Given the description of an element on the screen output the (x, y) to click on. 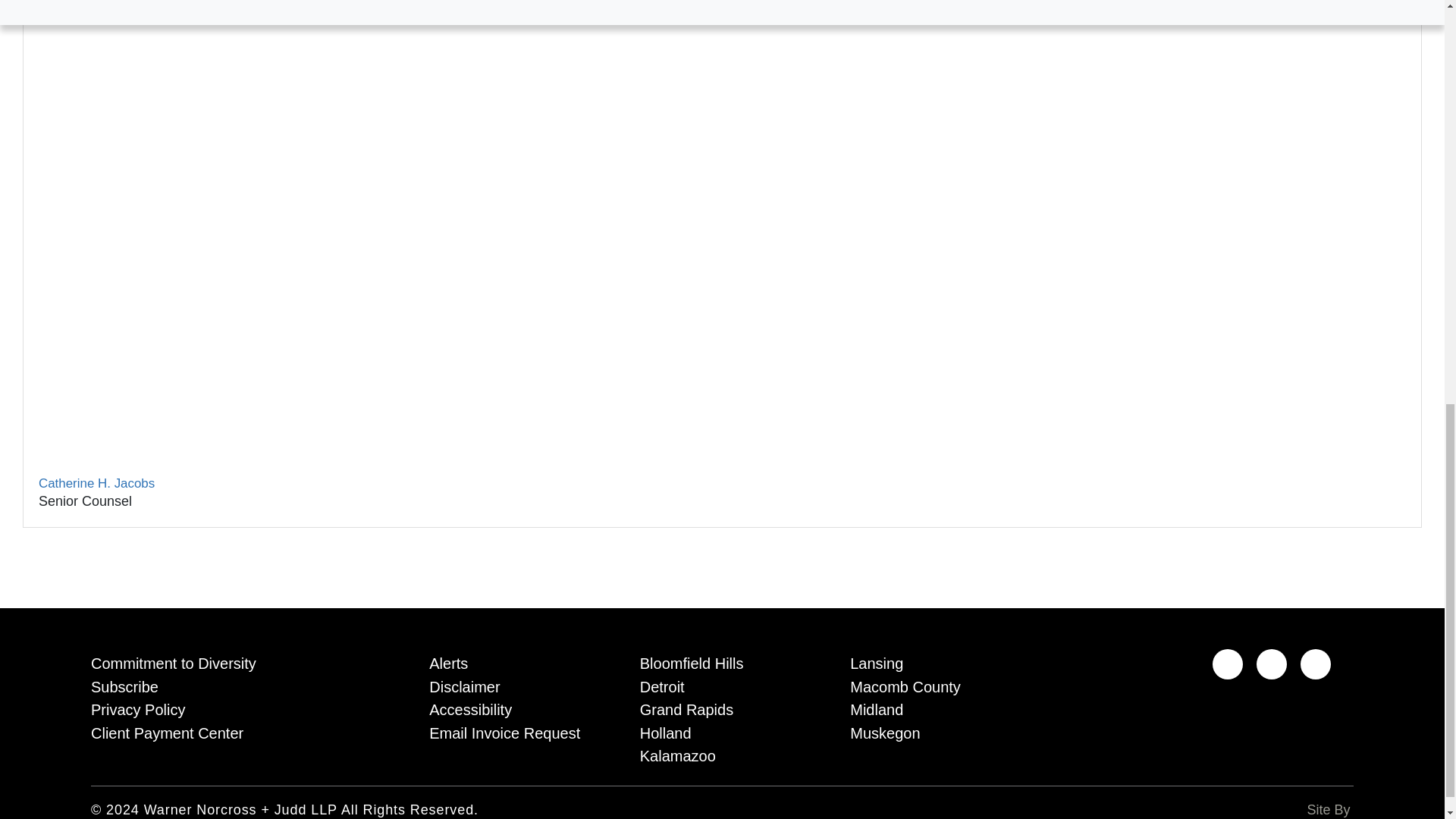
Commitment to Diversity (237, 660)
Linkedin (1227, 664)
Facebook (1271, 664)
Disclaimer (511, 684)
Kalamazoo (722, 753)
Privacy Policy (237, 707)
Macomb County (932, 684)
Catherine H. Jacobs (96, 482)
Twitter (1315, 664)
Bloomfield Hills (722, 660)
